Given the description of an element on the screen output the (x, y) to click on. 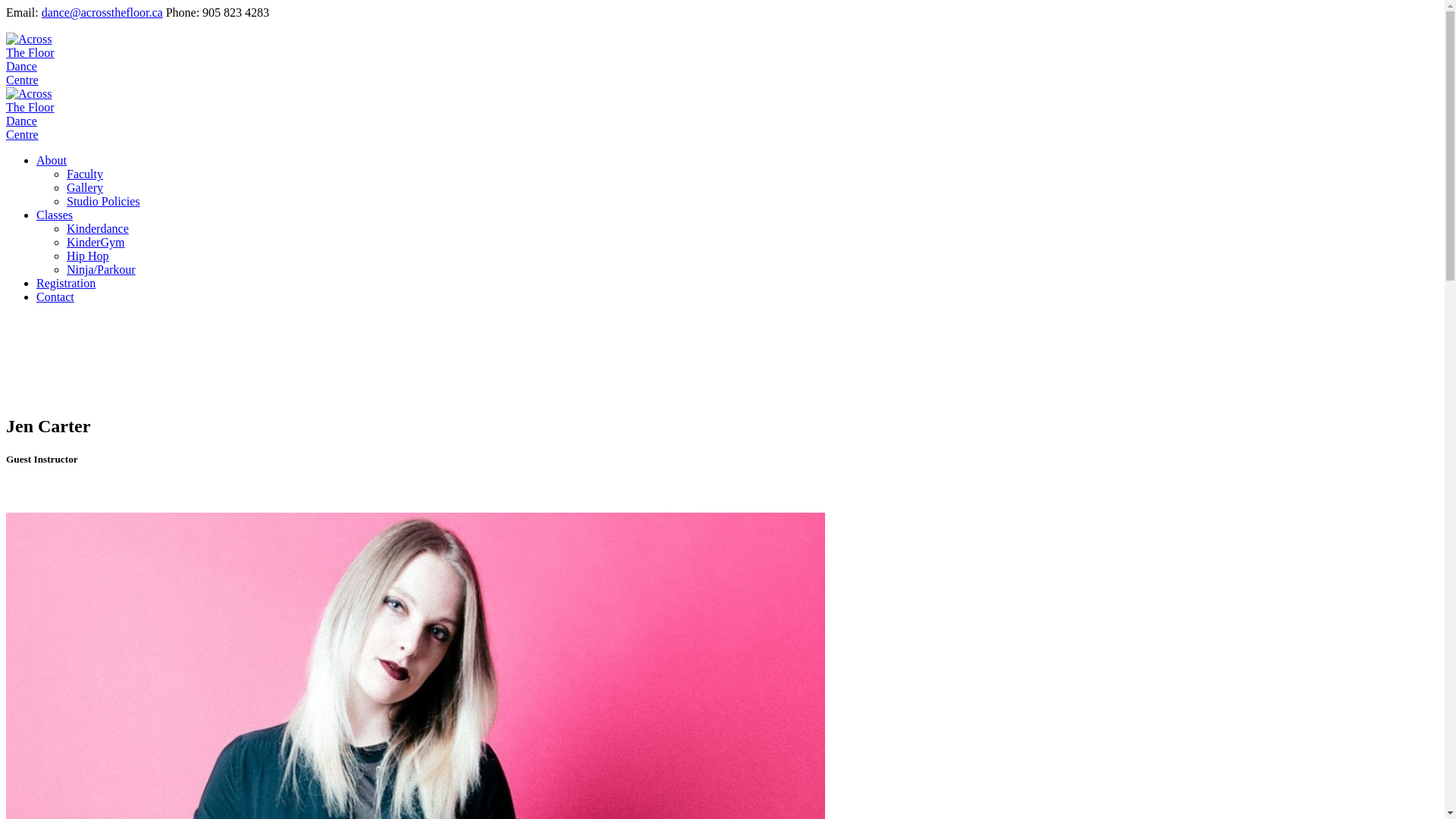
Faculty Element type: text (84, 173)
Classes Element type: text (54, 214)
Contact Element type: text (55, 296)
KinderGym Element type: text (95, 241)
Gallery Element type: text (84, 187)
Studio Policies Element type: text (102, 200)
Ninja/Parkour Element type: text (100, 269)
Kinderdance Element type: text (97, 228)
dance@acrossthefloor.ca Element type: text (102, 12)
Registration Element type: text (65, 282)
Hip Hop Element type: text (87, 255)
About Element type: text (51, 159)
Across The Floor Dance Centre Element type: hover (35, 107)
